Given the description of an element on the screen output the (x, y) to click on. 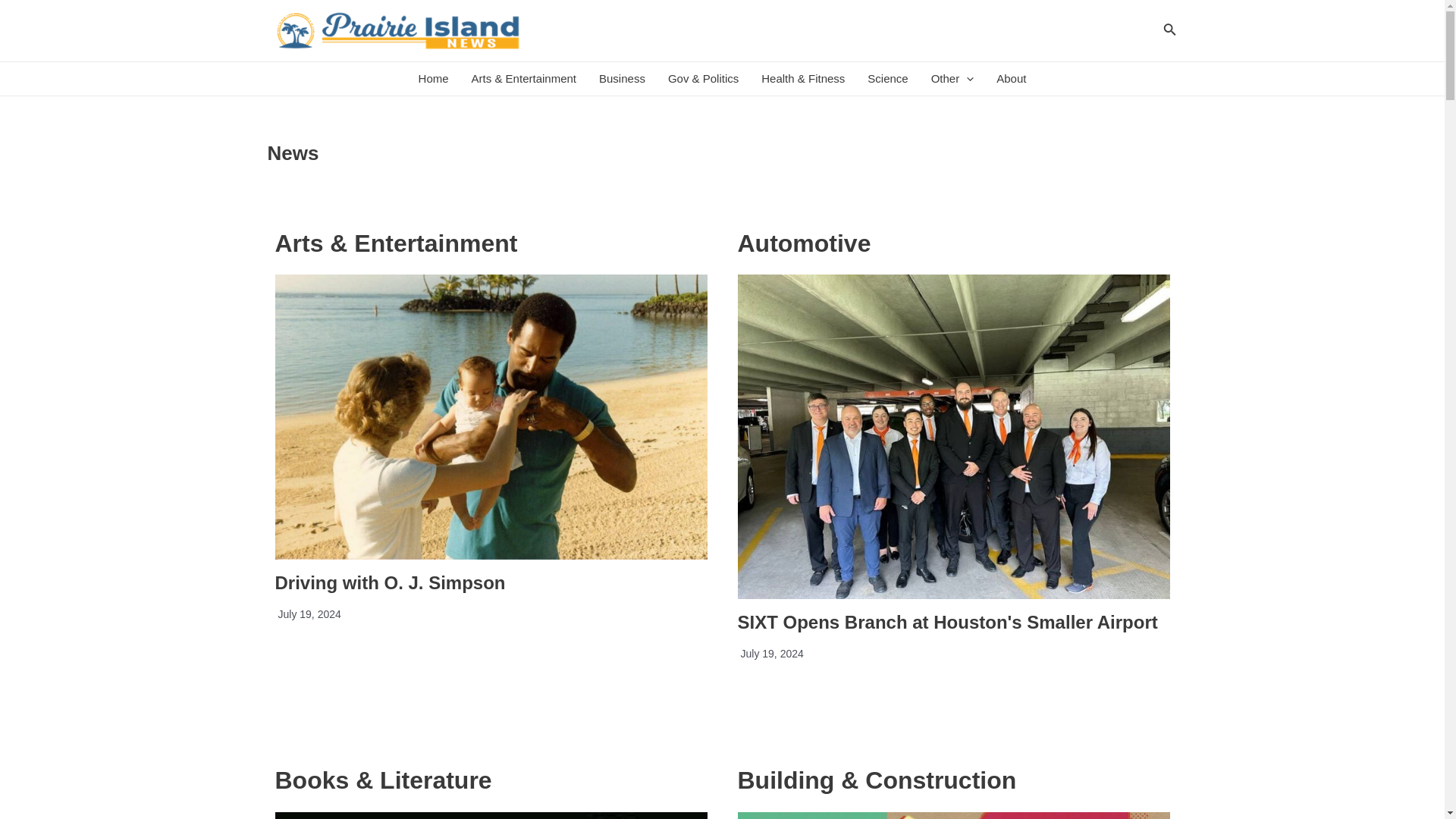
About (1010, 78)
Business (622, 78)
Home (433, 78)
Science (887, 78)
Other (952, 78)
